Given the description of an element on the screen output the (x, y) to click on. 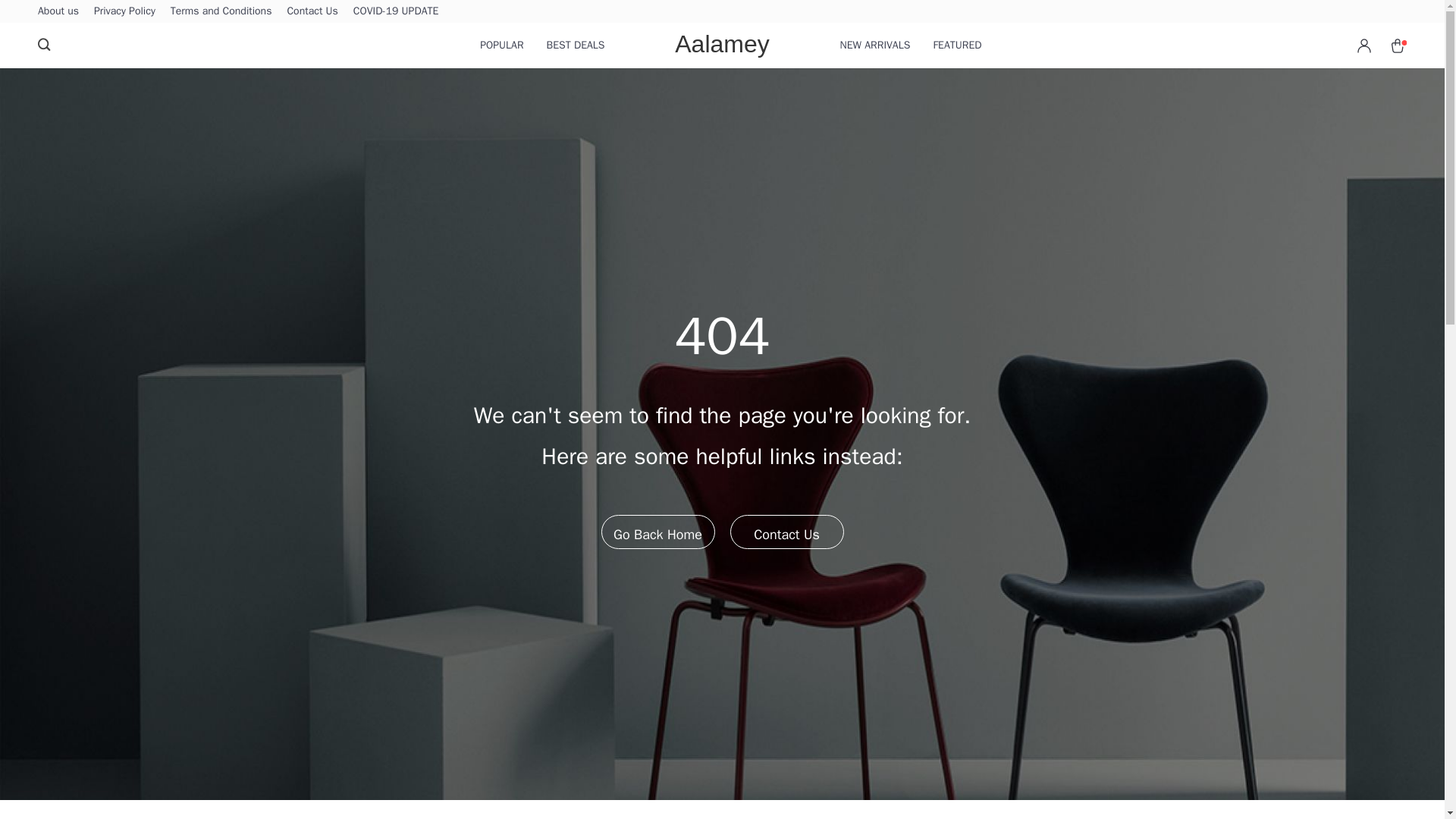
Terms and Conditions (221, 10)
Privacy Policy (124, 10)
Contact Us (311, 10)
COVID-19 UPDATE (395, 10)
About us (57, 10)
